Given the description of an element on the screen output the (x, y) to click on. 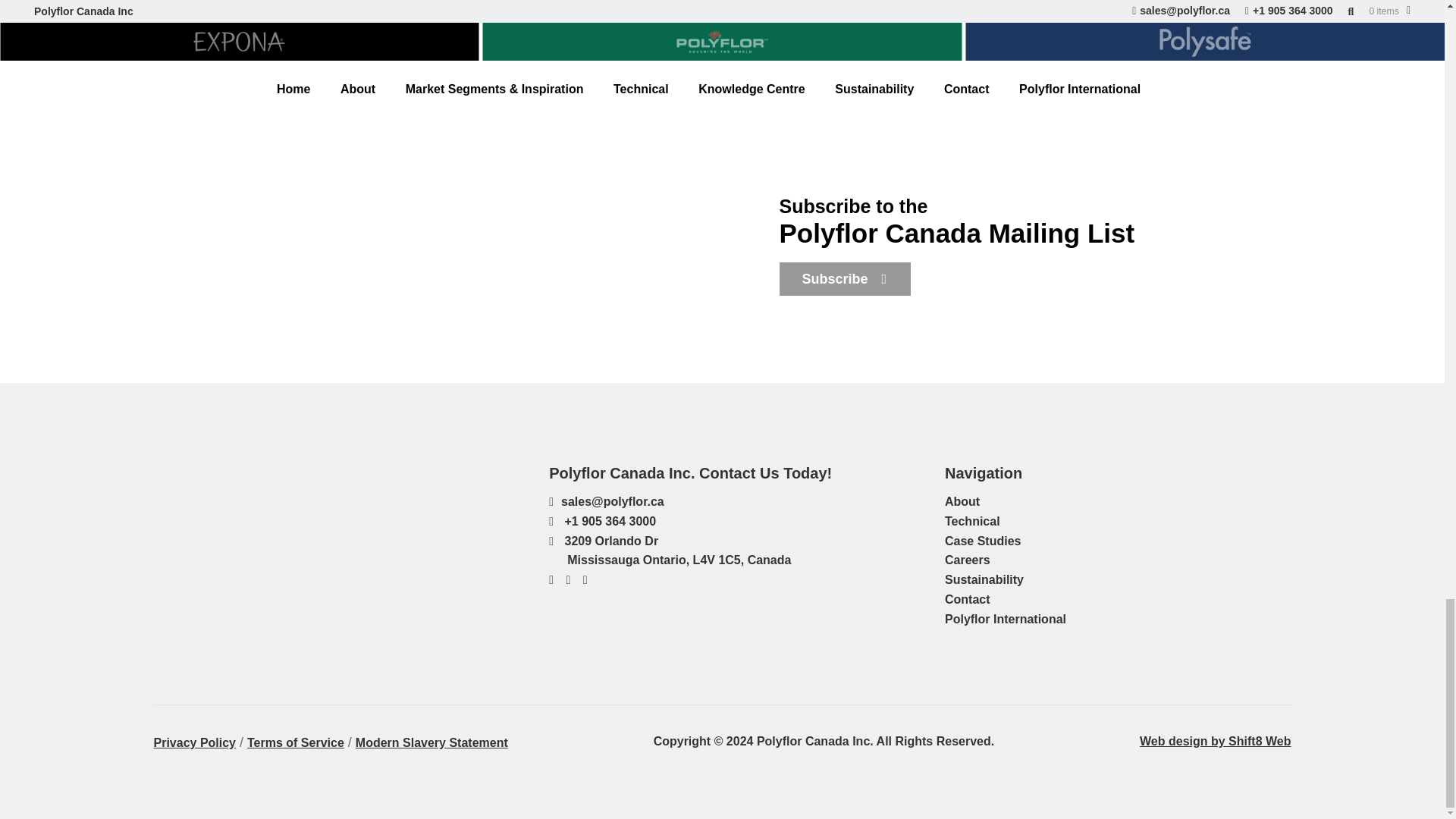
Mailing List Sign Up (844, 278)
